Given the description of an element on the screen output the (x, y) to click on. 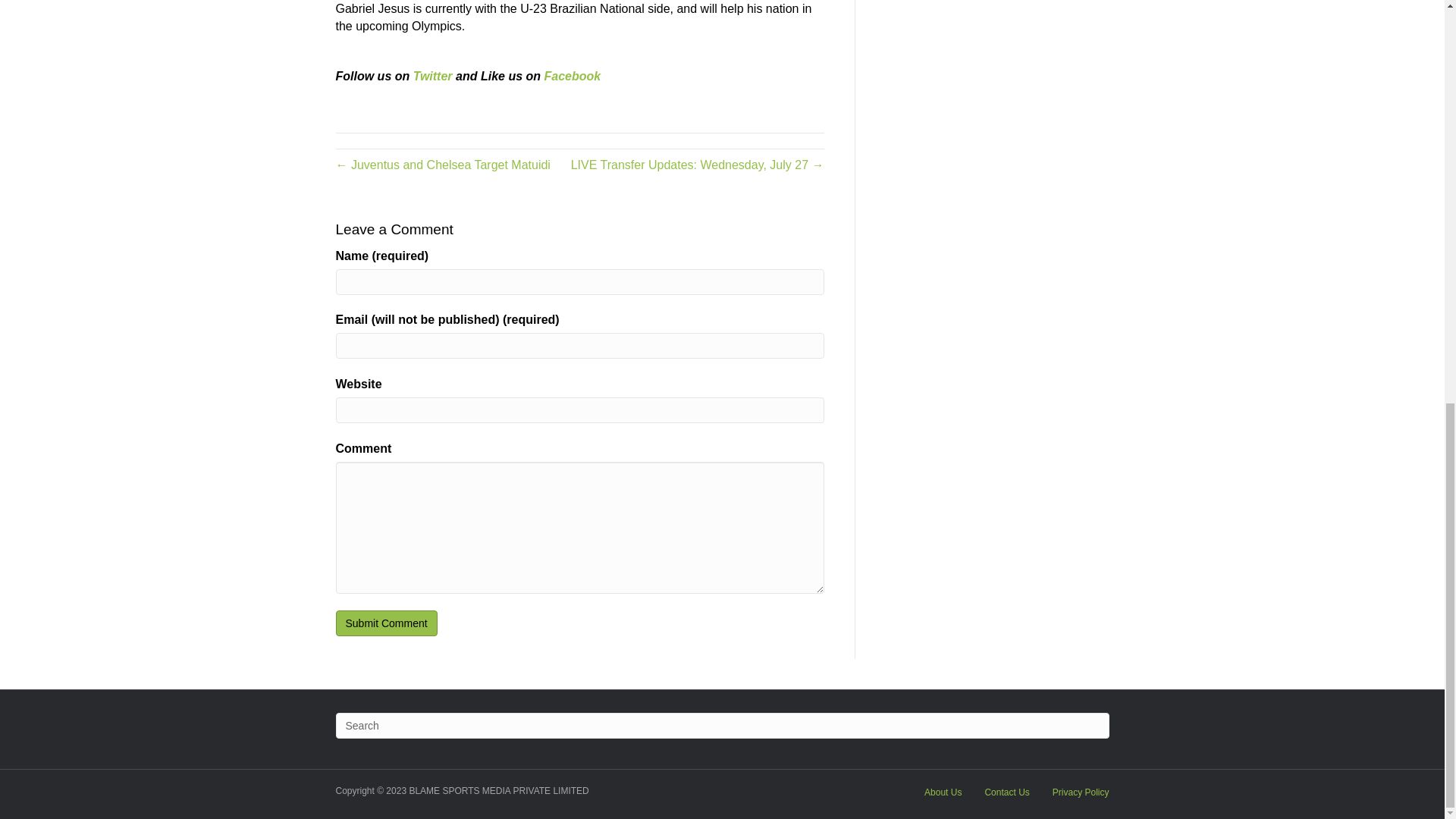
Search (721, 725)
Type and press Enter to search. (721, 725)
Search (721, 725)
Submit Comment (385, 623)
